Given the description of an element on the screen output the (x, y) to click on. 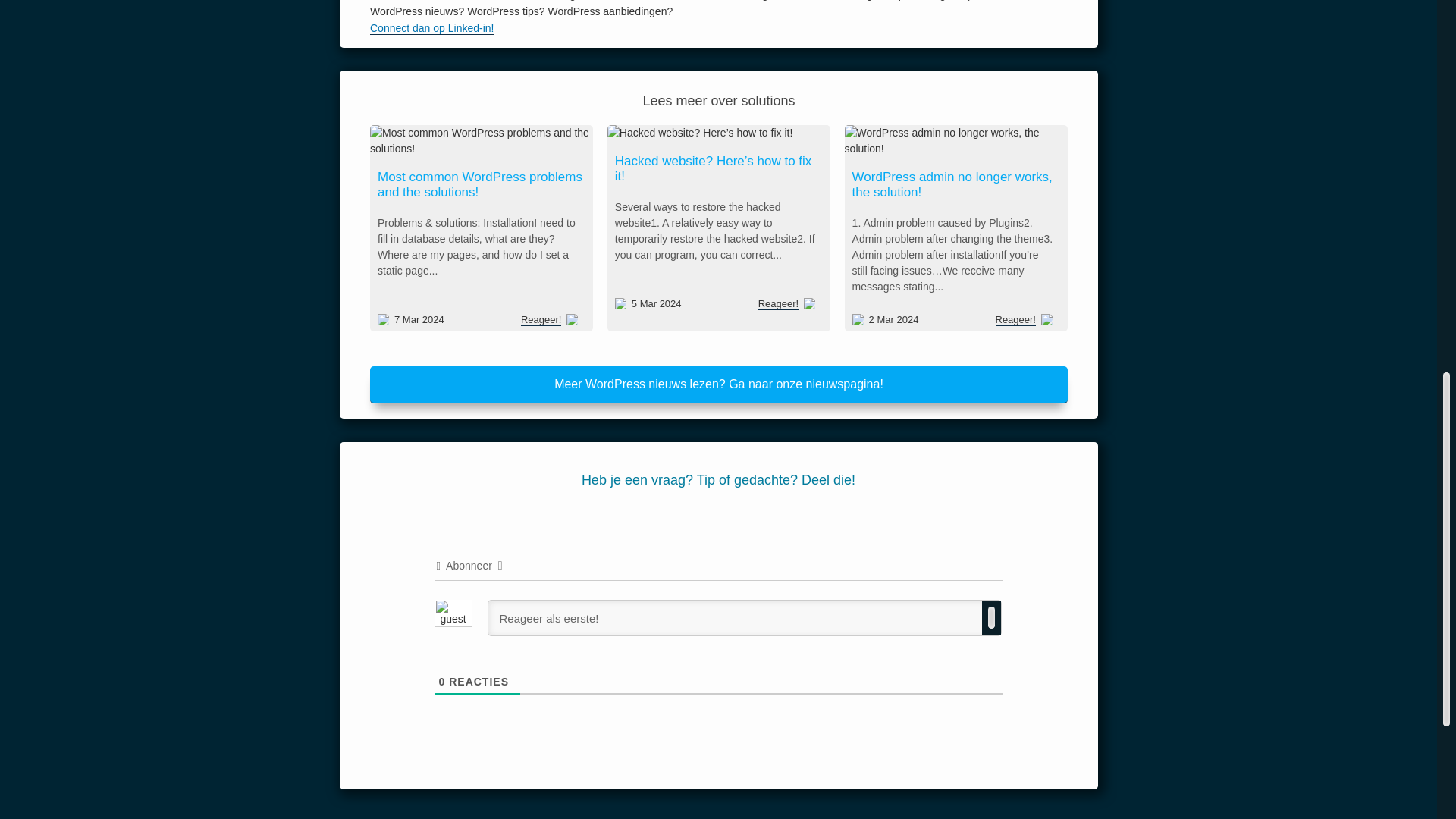
Connect dan op Linked-in! (535, 21)
Reageer! (547, 318)
Meer WordPress nieuws lezen? Ga naar onze nieuwspagina! (718, 385)
Reageer! (777, 304)
Reageer! (1014, 319)
